Given the description of an element on the screen output the (x, y) to click on. 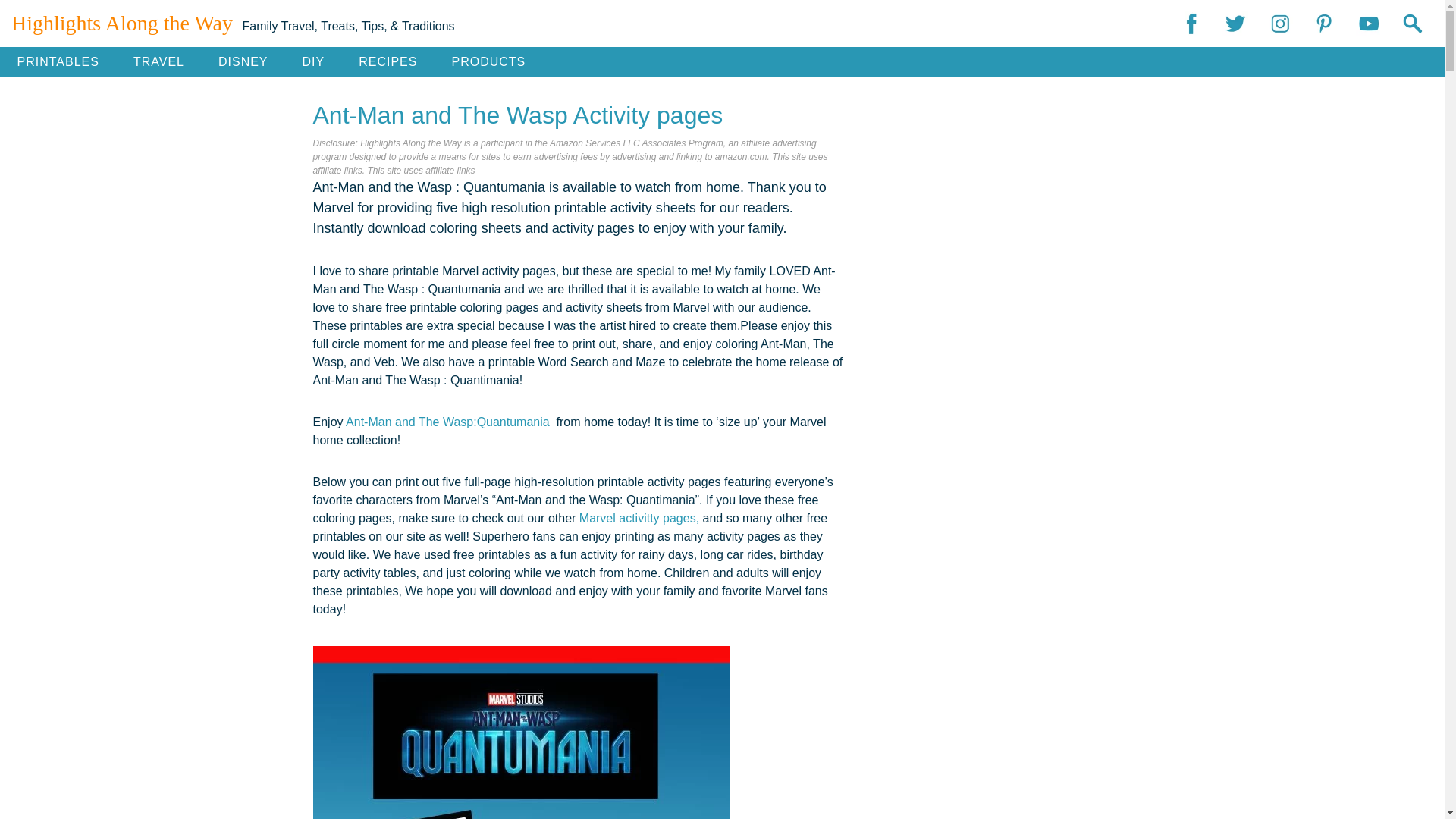
DIY (313, 61)
Ant-Man and The Wasp:Quantumania  (449, 421)
Travel (158, 61)
TRAVEL (158, 61)
PRODUCTS (488, 61)
Highlights Along the Way (121, 23)
PRINTABLES (58, 61)
DIY (313, 61)
Marvel activitty pages, (638, 517)
RECIPES (387, 61)
DISNEY (242, 61)
